Given the description of an element on the screen output the (x, y) to click on. 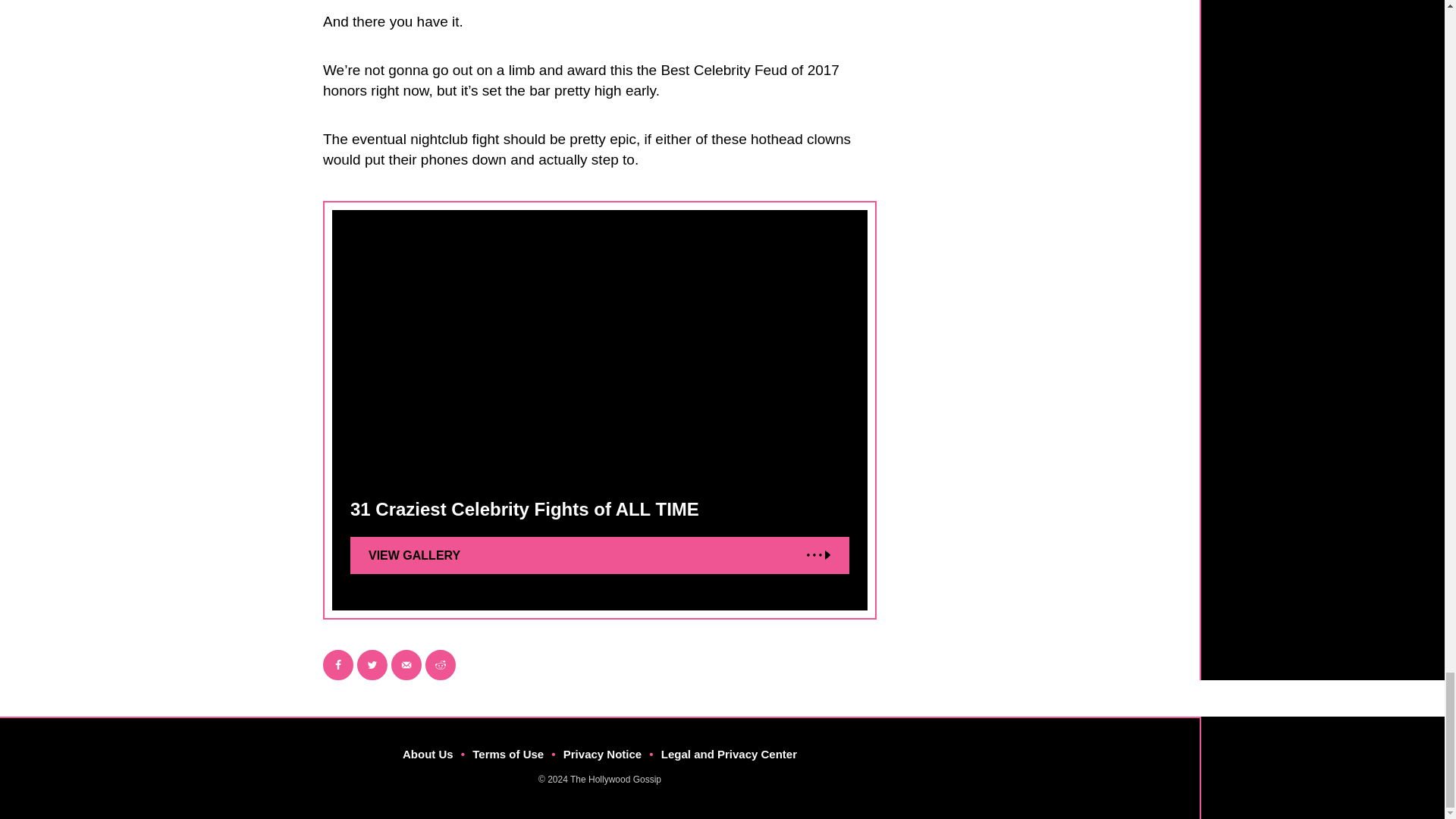
Share on Twitter (371, 665)
Send over email (406, 665)
Share on Reddit (440, 665)
Share on Facebook (338, 665)
